Given the description of an element on the screen output the (x, y) to click on. 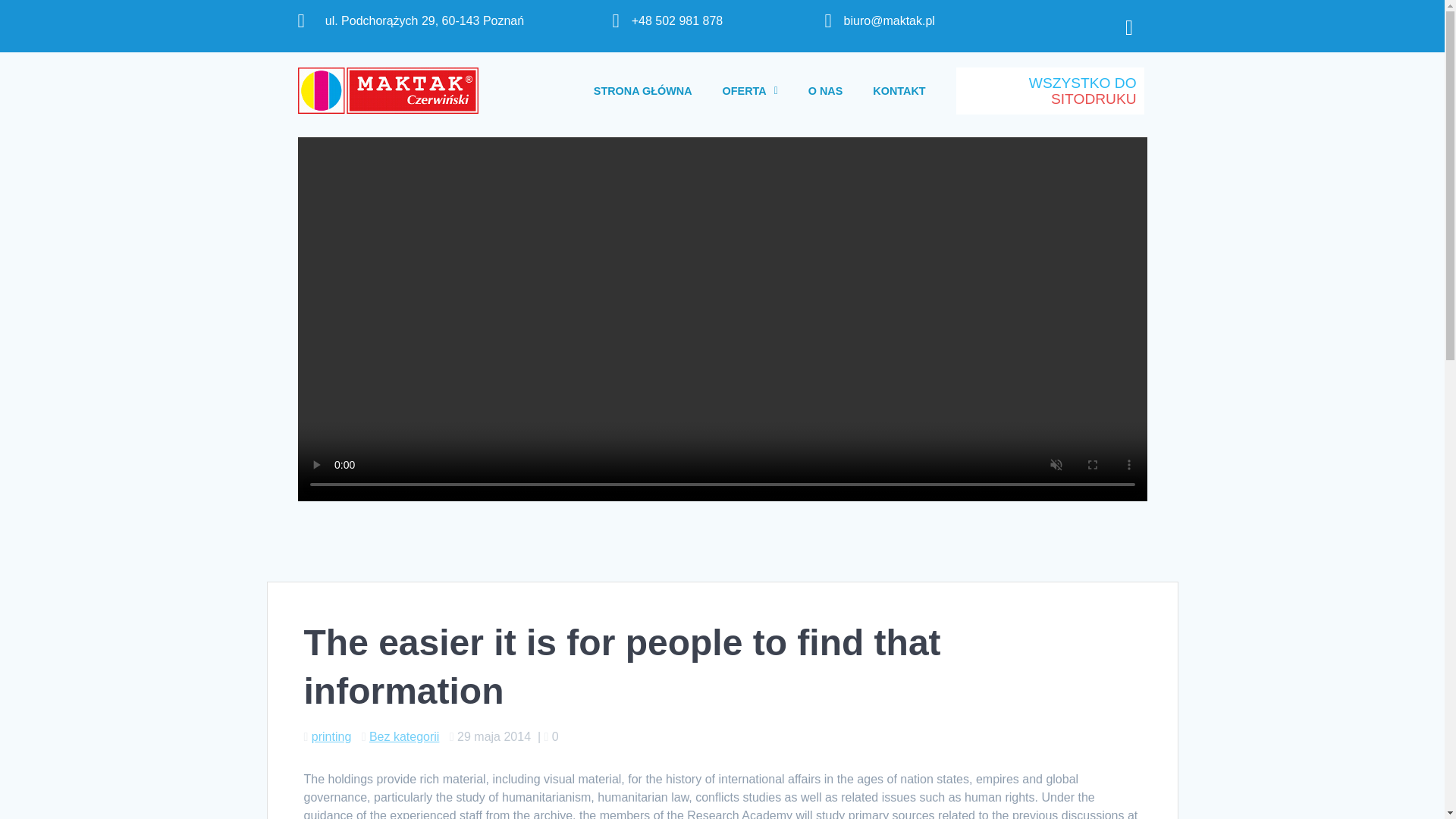
Bez kategorii (404, 736)
KONTAKT (898, 90)
O NAS (826, 90)
Wpisy od printing (330, 736)
printing (330, 736)
OFERTA (750, 90)
